Given the description of an element on the screen output the (x, y) to click on. 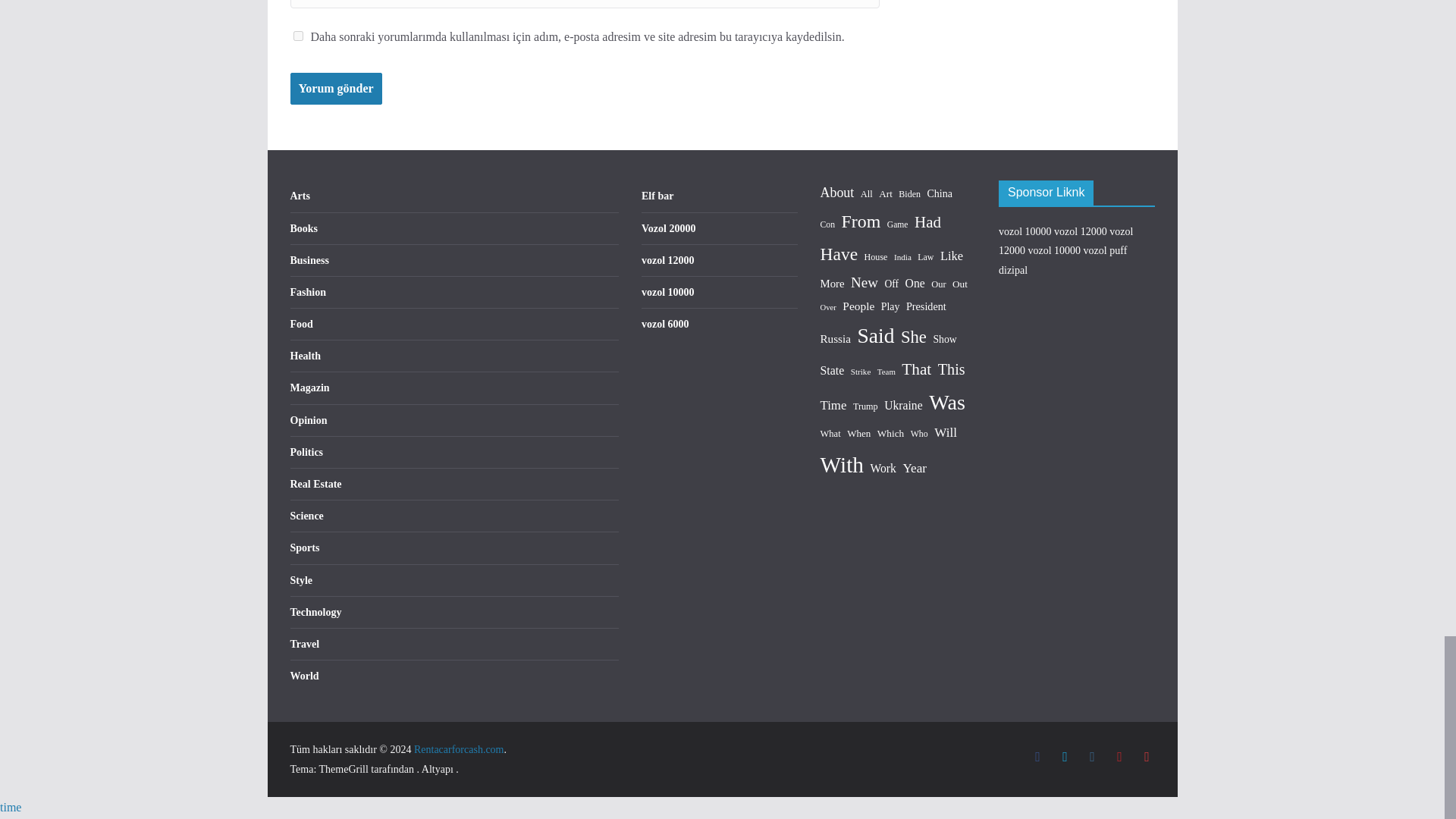
yes (297, 35)
